Given the description of an element on the screen output the (x, y) to click on. 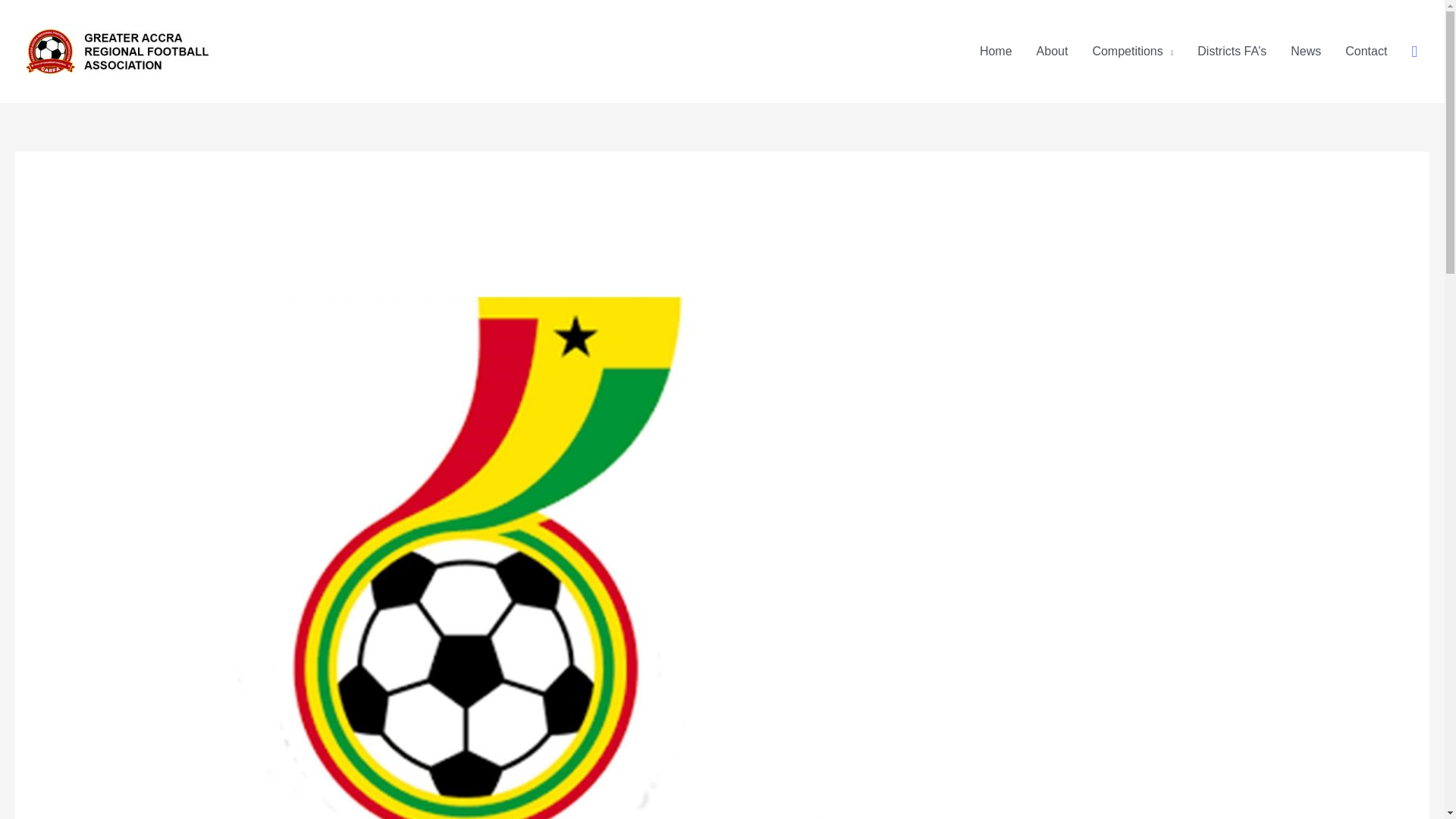
About (1052, 51)
Competitions (1132, 51)
Contact (1366, 51)
Home (996, 51)
News (1305, 51)
